Given the description of an element on the screen output the (x, y) to click on. 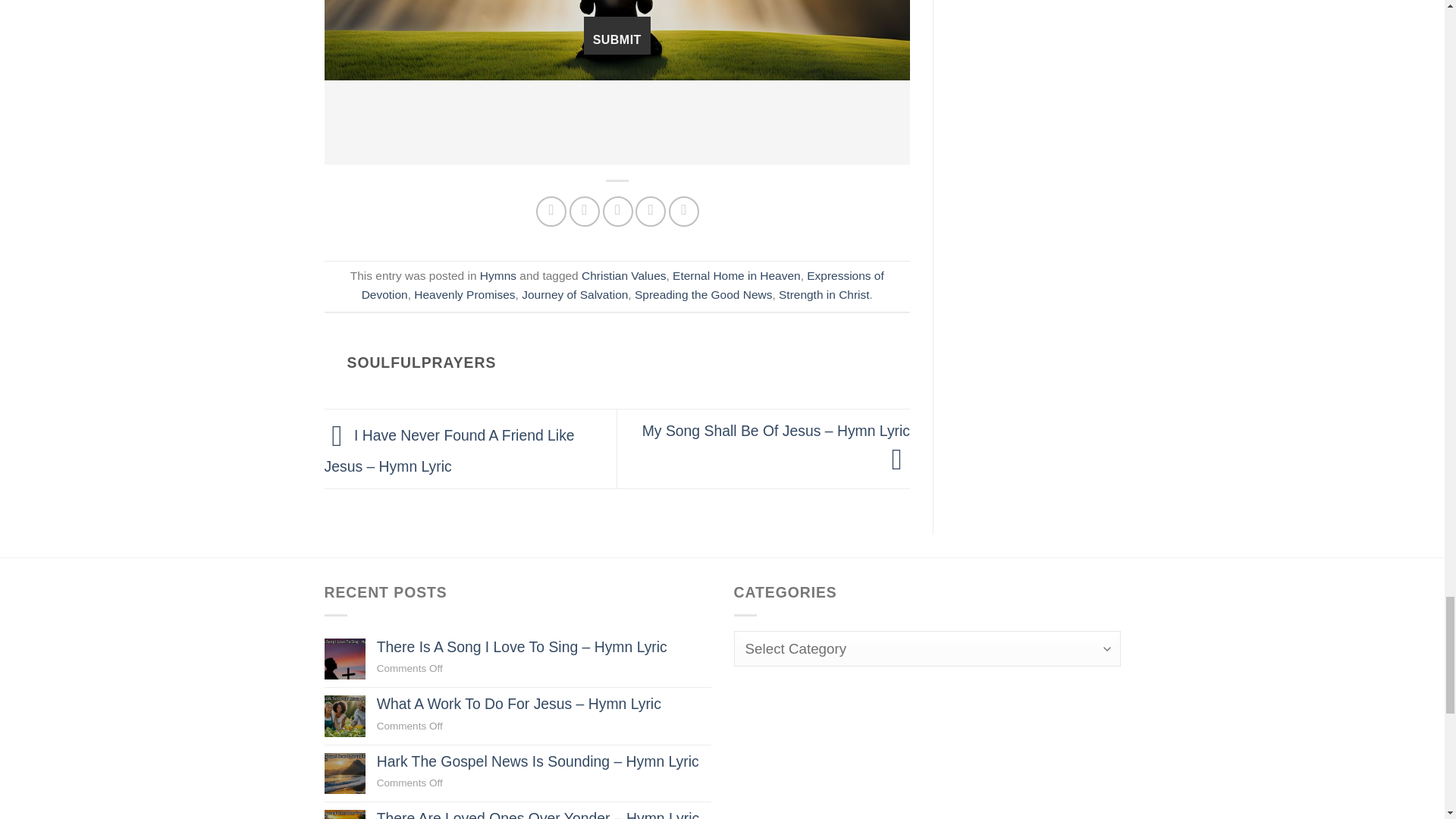
Strength in Christ (823, 294)
Jesus And Him Crucified - Hymn Lyric (617, 40)
Email to a Friend (617, 211)
Submit (616, 35)
Eternal Home in Heaven (736, 275)
Journey of Salvation (574, 294)
Hymns (498, 275)
Expressions of Devotion (622, 285)
Submit (616, 35)
Christian Values (622, 275)
